Given the description of an element on the screen output the (x, y) to click on. 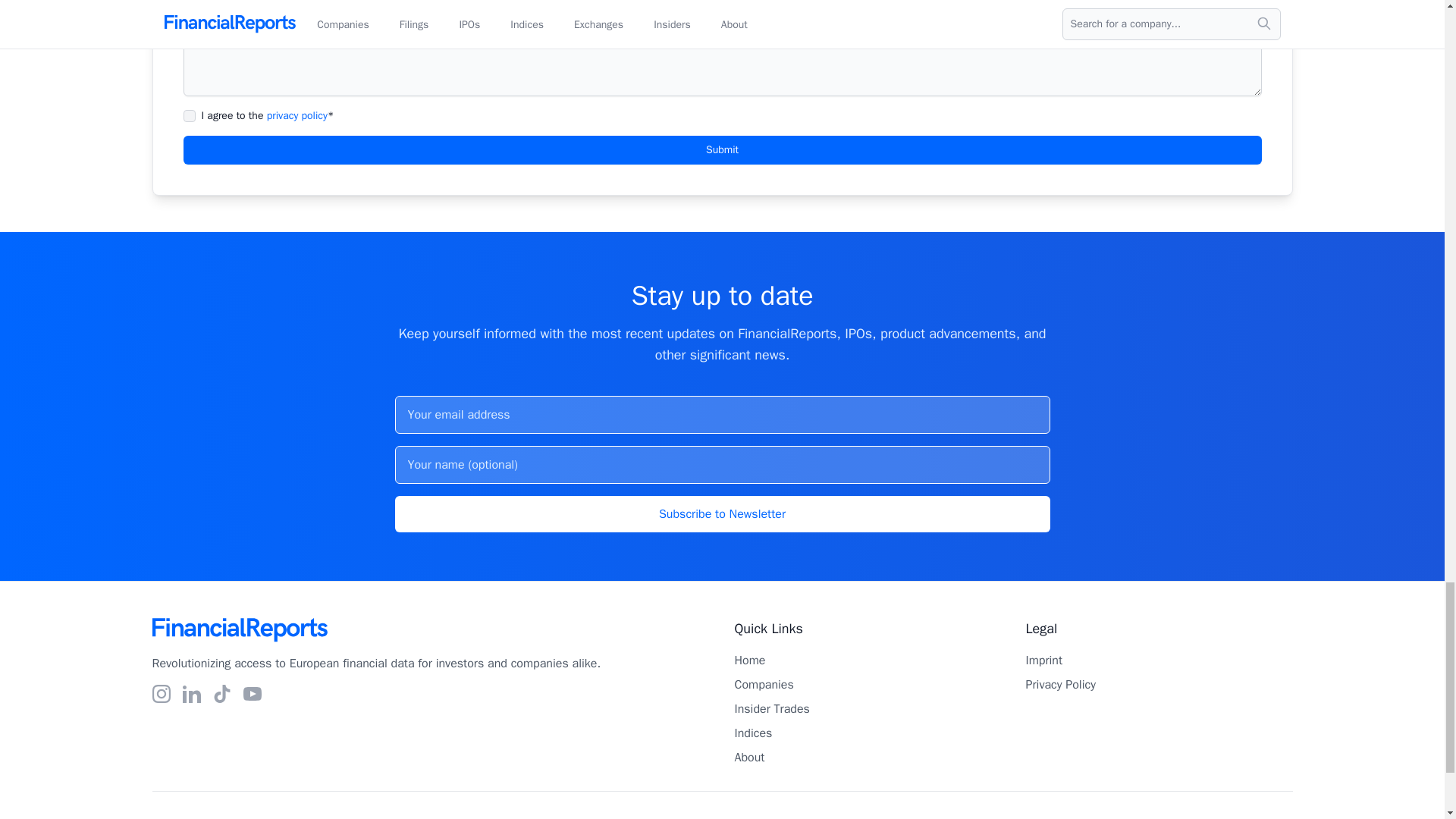
privacy policy (296, 115)
on (189, 115)
Submit (722, 149)
